Given the description of an element on the screen output the (x, y) to click on. 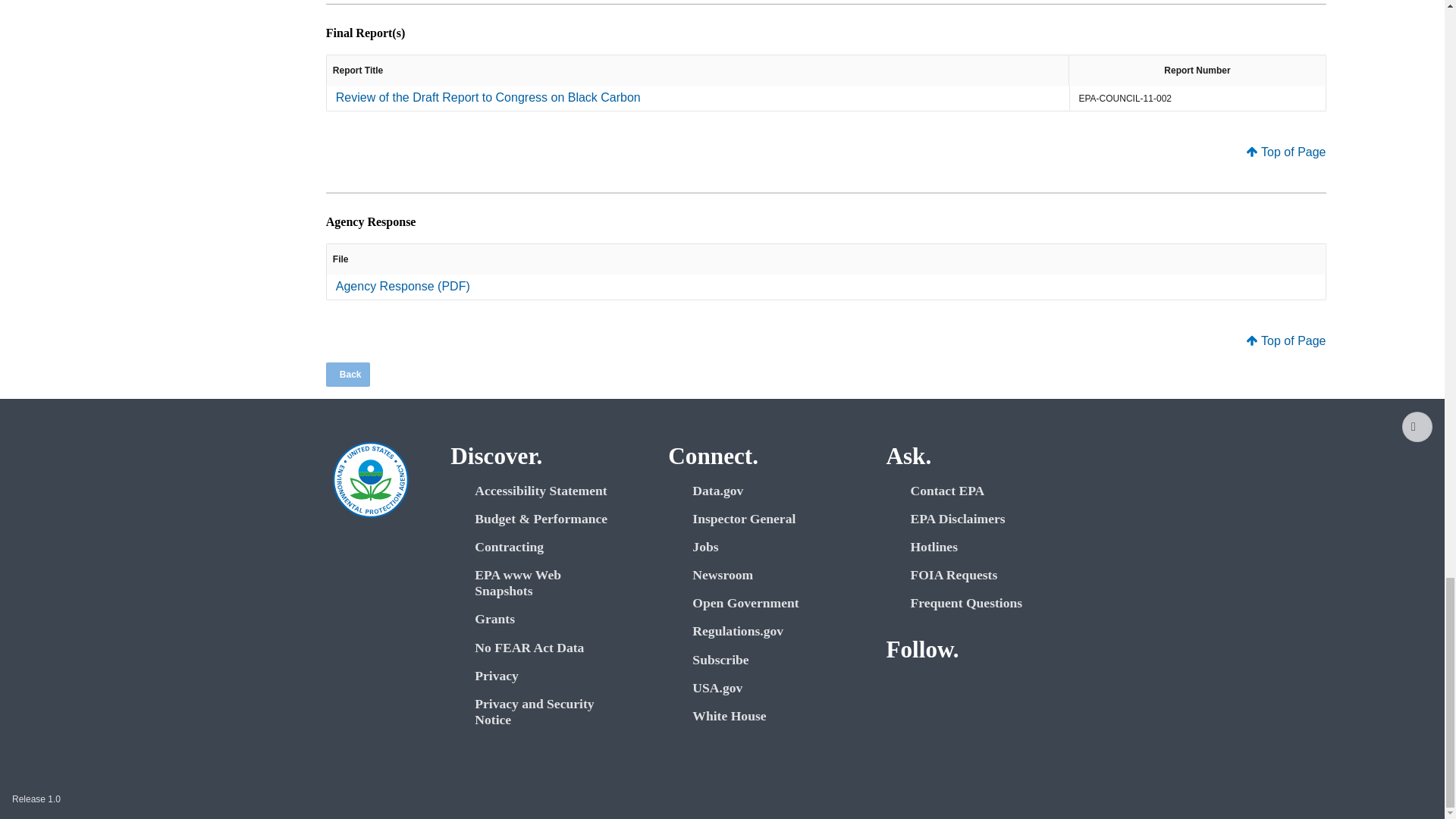
Start of page (1417, 426)
Review of the Draft Report to Congress on Black Carbon 2MB (488, 97)
